Given the description of an element on the screen output the (x, y) to click on. 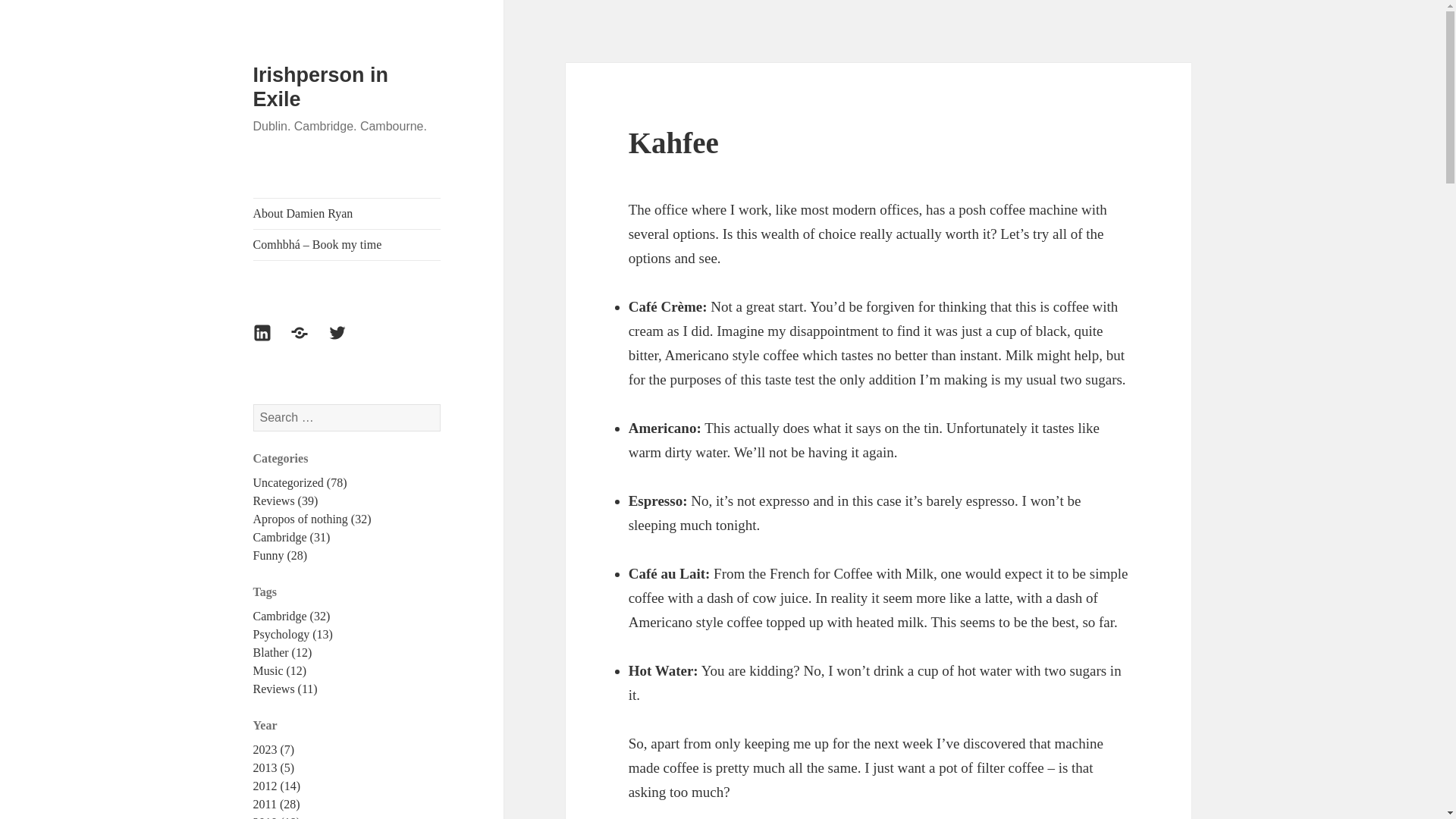
Irishperson in Exile (320, 86)
About Damien Ryan (347, 214)
Mastodon (307, 341)
Twitter (347, 341)
LinkedIn (271, 341)
